Given the description of an element on the screen output the (x, y) to click on. 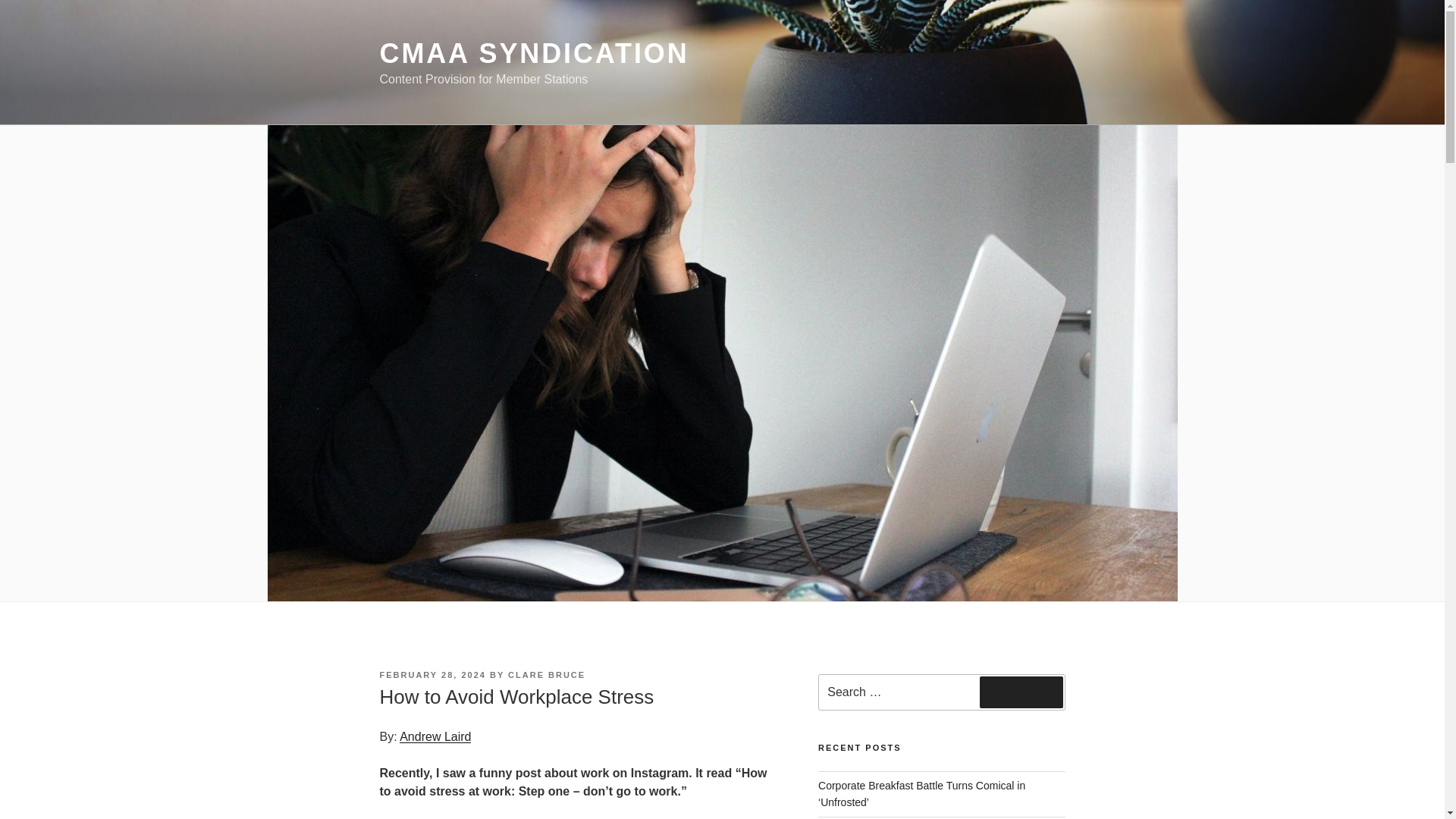
Search (1020, 692)
CMAA SYNDICATION (533, 52)
CLARE BRUCE (546, 674)
FEBRUARY 28, 2024 (431, 674)
Andrew Laird (434, 736)
